Given the description of an element on the screen output the (x, y) to click on. 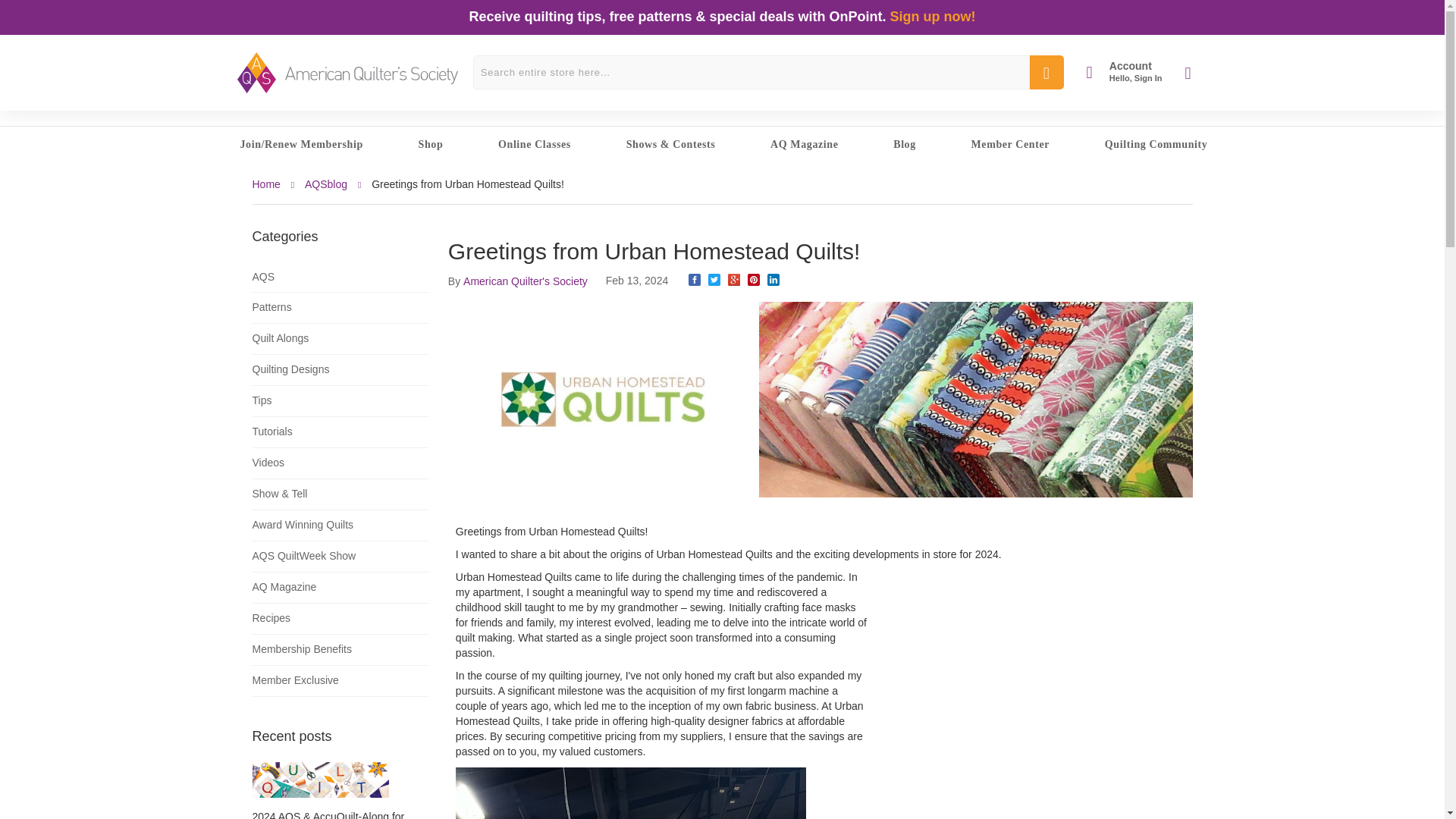
American Quilter's Society (346, 72)
My Cart (1196, 72)
AQ Magazine (802, 144)
SEARCH (1046, 72)
Sign up now! (932, 16)
Shop (429, 144)
Online Classes (1123, 72)
Search (532, 144)
